Given the description of an element on the screen output the (x, y) to click on. 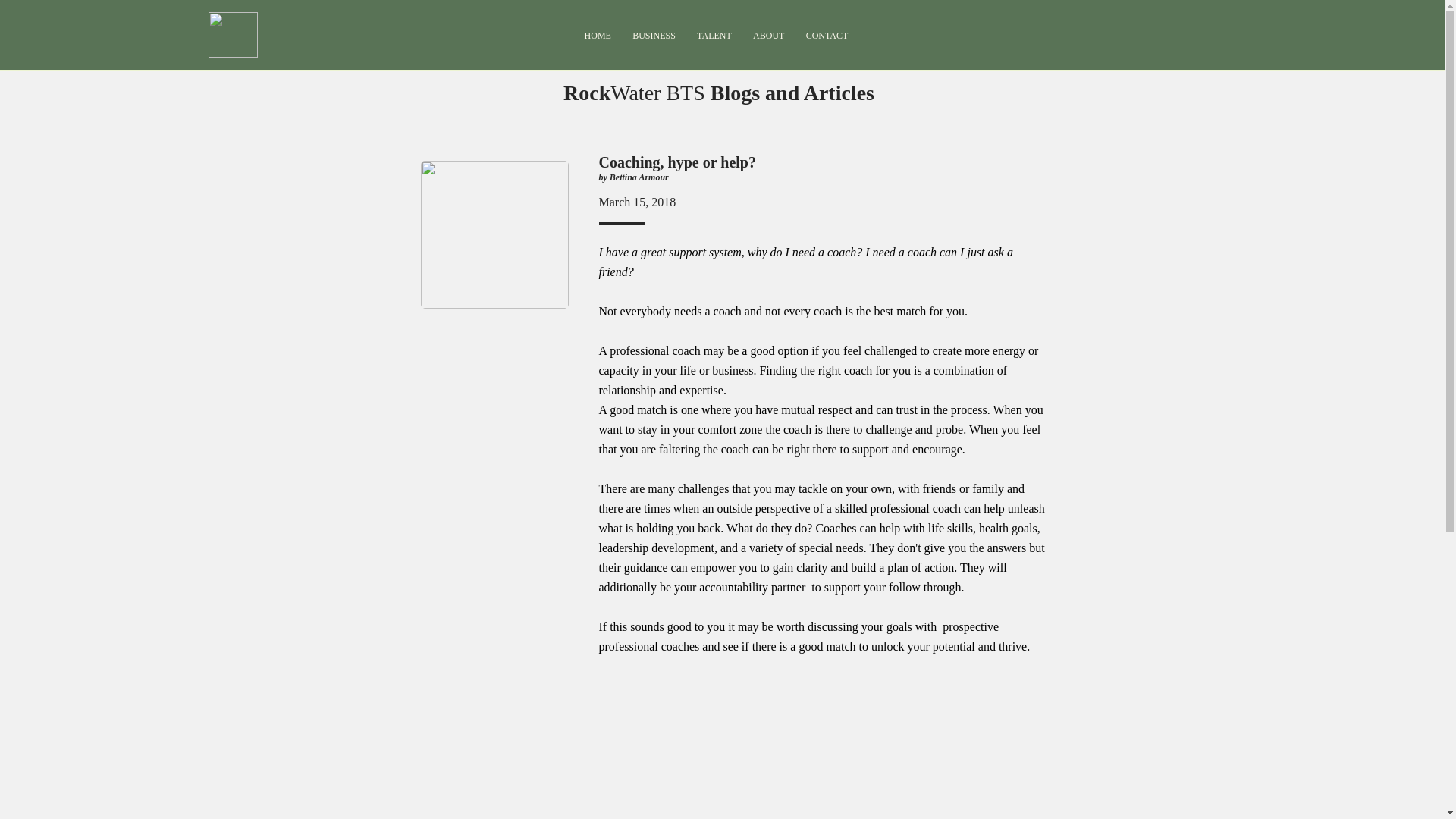
ABOUT (768, 35)
TALENT (713, 35)
CONTACT (826, 35)
BUSINESS (653, 35)
HOME (597, 35)
